Given the description of an element on the screen output the (x, y) to click on. 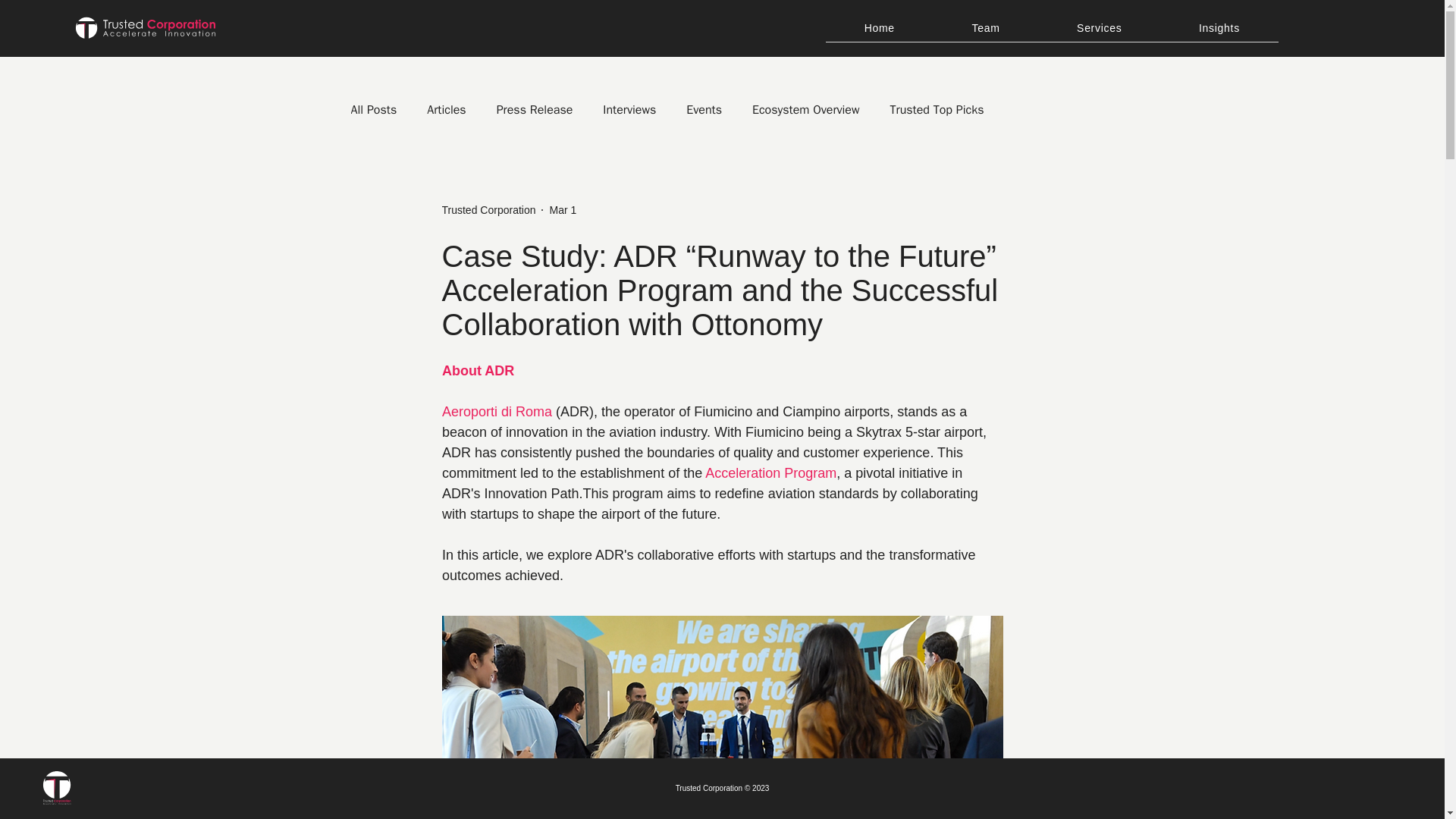
Articles (445, 109)
Services (1099, 28)
Trusted Corporation (488, 209)
Trusted Corporation (488, 209)
All Posts (373, 109)
Aeroporti di Roma (496, 411)
Home (879, 28)
Press Release (534, 109)
Trusted Top Picks (936, 109)
Interviews (629, 109)
